Given the description of an element on the screen output the (x, y) to click on. 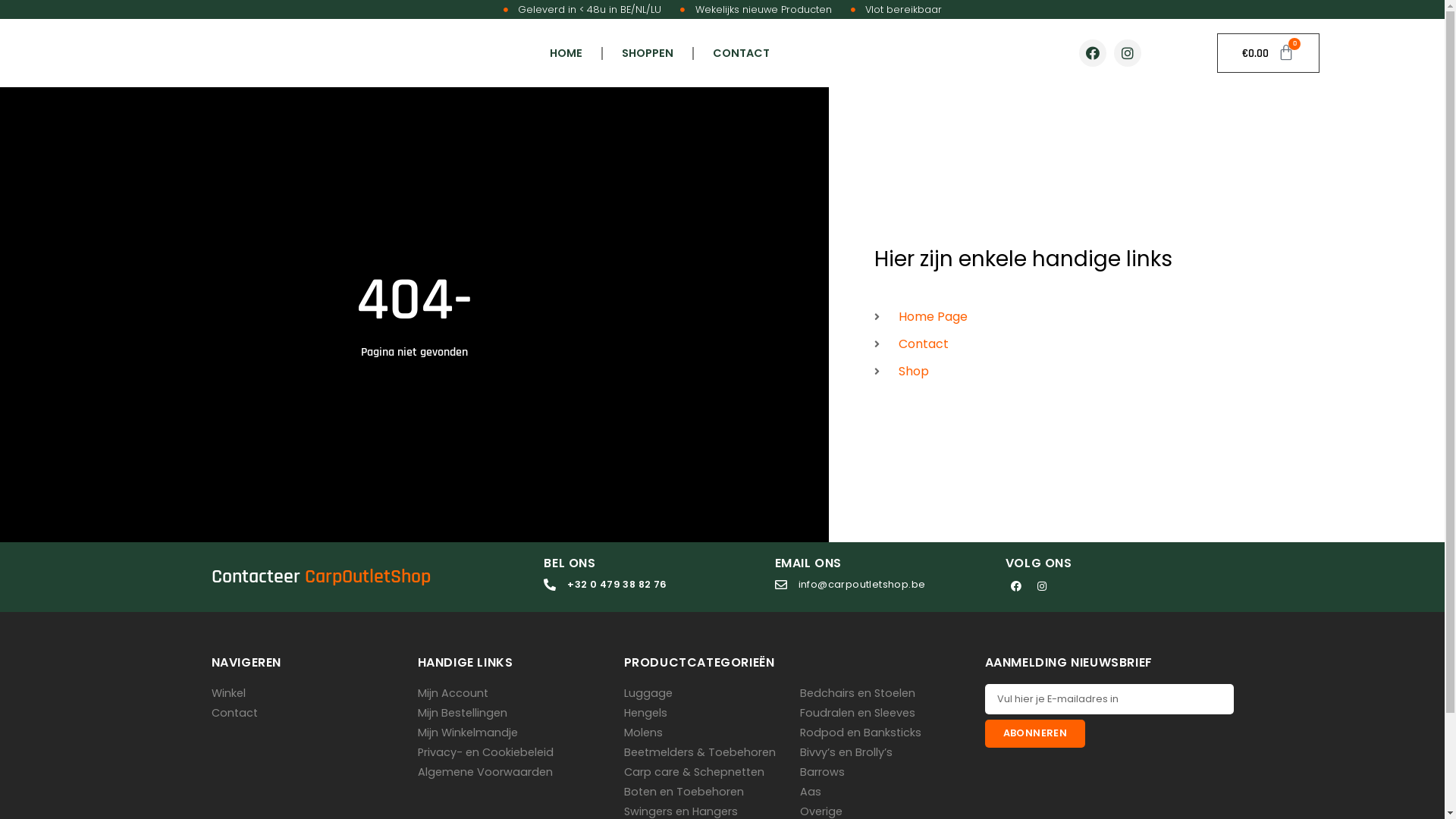
Beetmelders & Toebehoren Element type: text (699, 751)
HOME Element type: text (566, 52)
Mijn Account Element type: text (452, 692)
Winkel Element type: text (227, 692)
Rodpod en Banksticks Element type: text (859, 732)
Luggage Element type: text (647, 692)
ABONNEREN Element type: text (1034, 733)
Aas Element type: text (809, 791)
Contact Element type: text (233, 712)
Carp care & Schepnetten Element type: text (693, 771)
Mijn Bestellingen Element type: text (461, 712)
Shop Element type: text (1147, 371)
Bedchairs en Stoelen Element type: text (856, 692)
Mijn Winkelmandje Element type: text (467, 732)
SHOPPEN Element type: text (647, 52)
Algemene Voorwaarden Element type: text (484, 771)
Privacy- en Cookiebeleid Element type: text (484, 751)
Molens Element type: text (642, 732)
CONTACT Element type: text (741, 52)
+32 0 479 38 82 76 Element type: text (604, 584)
Barrows Element type: text (821, 771)
Foudralen en Sleeves Element type: text (856, 712)
Contact Element type: text (1147, 344)
Home Page Element type: text (1147, 316)
Boten en Toebehoren Element type: text (683, 791)
info@carpoutletshop.be Element type: text (850, 584)
Hengels Element type: text (644, 712)
